Given the description of an element on the screen output the (x, y) to click on. 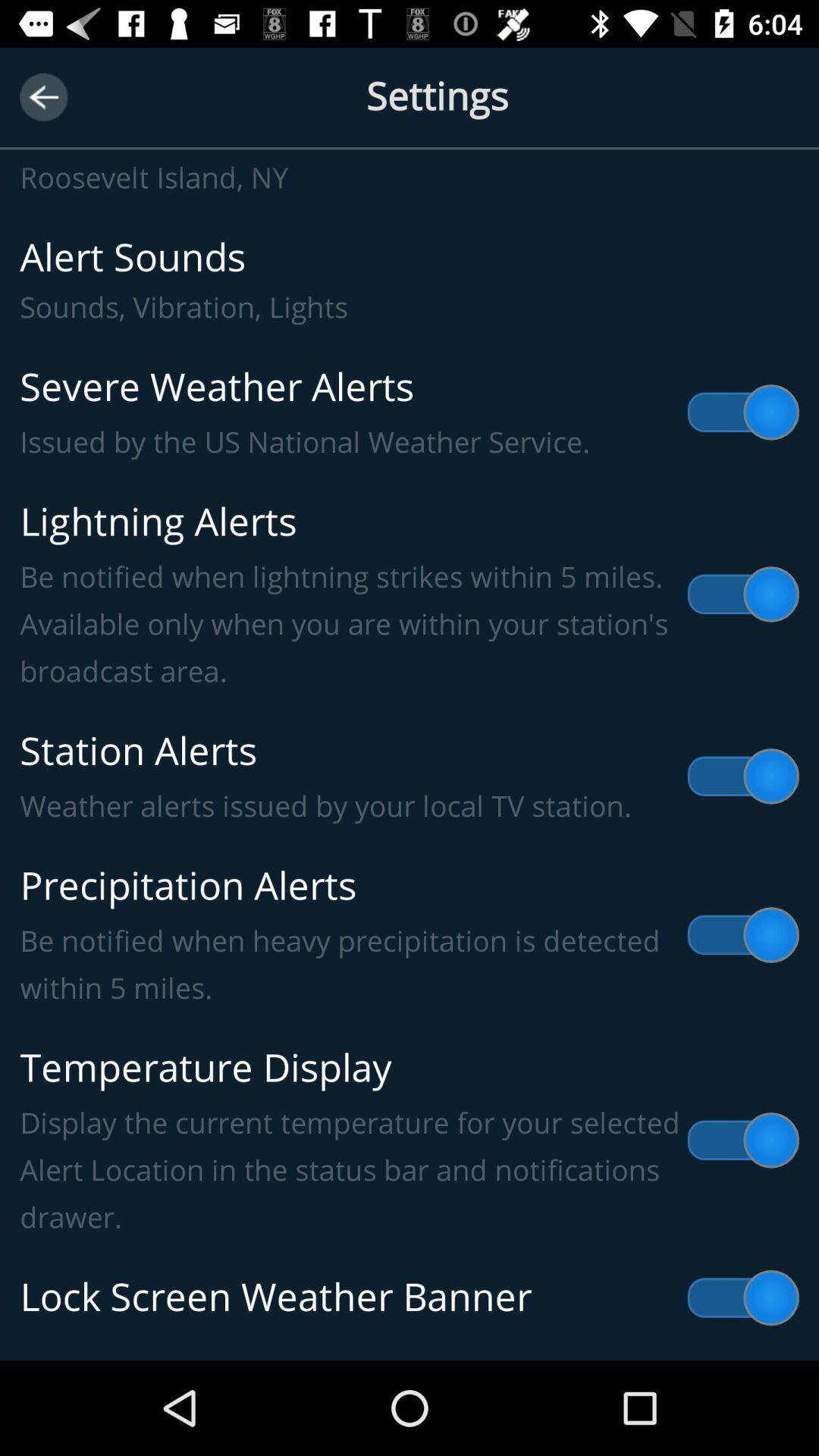
open temperature display display item (409, 1140)
